Given the description of an element on the screen output the (x, y) to click on. 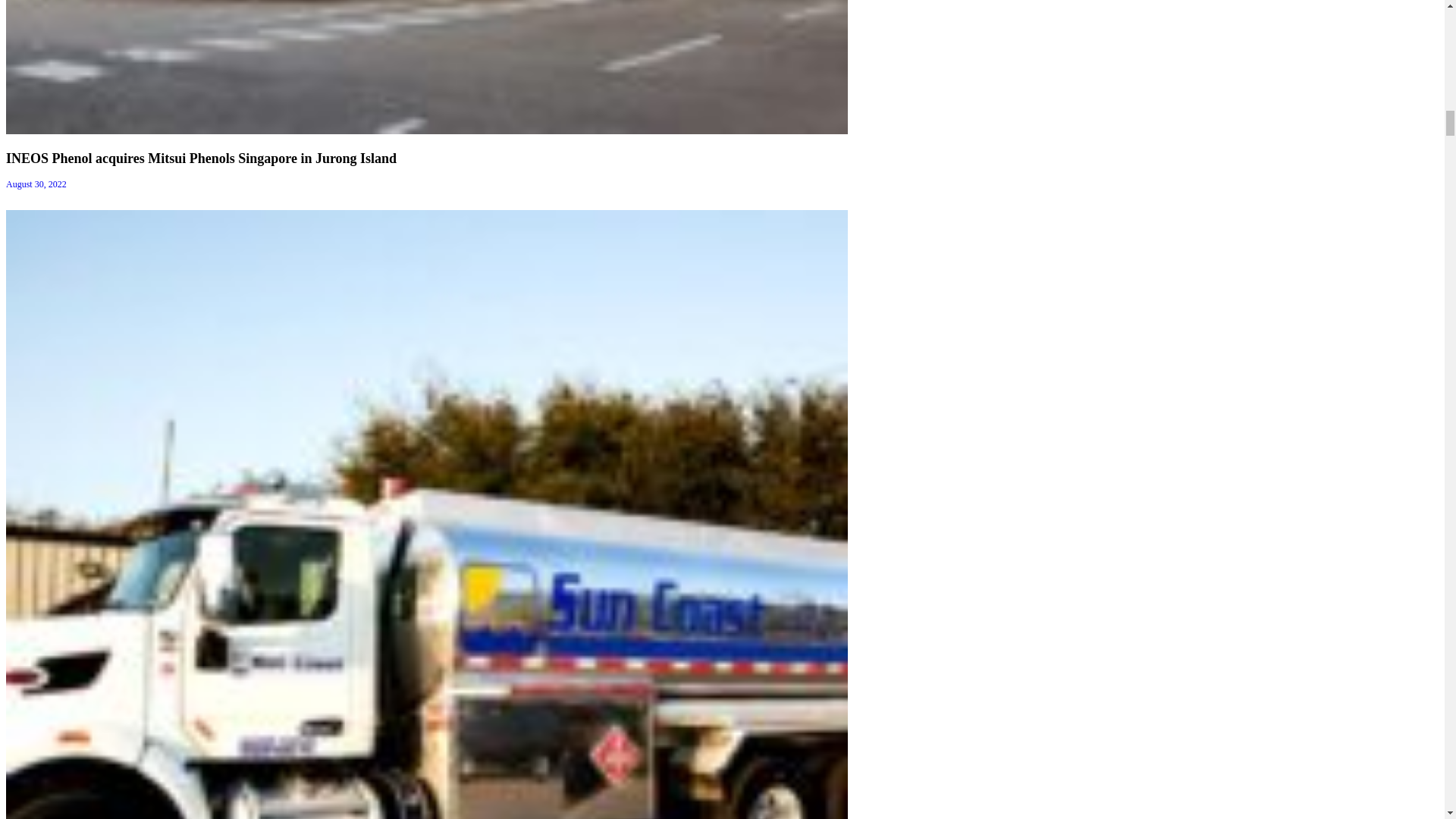
August 30, 2022 (35, 184)
